Given the description of an element on the screen output the (x, y) to click on. 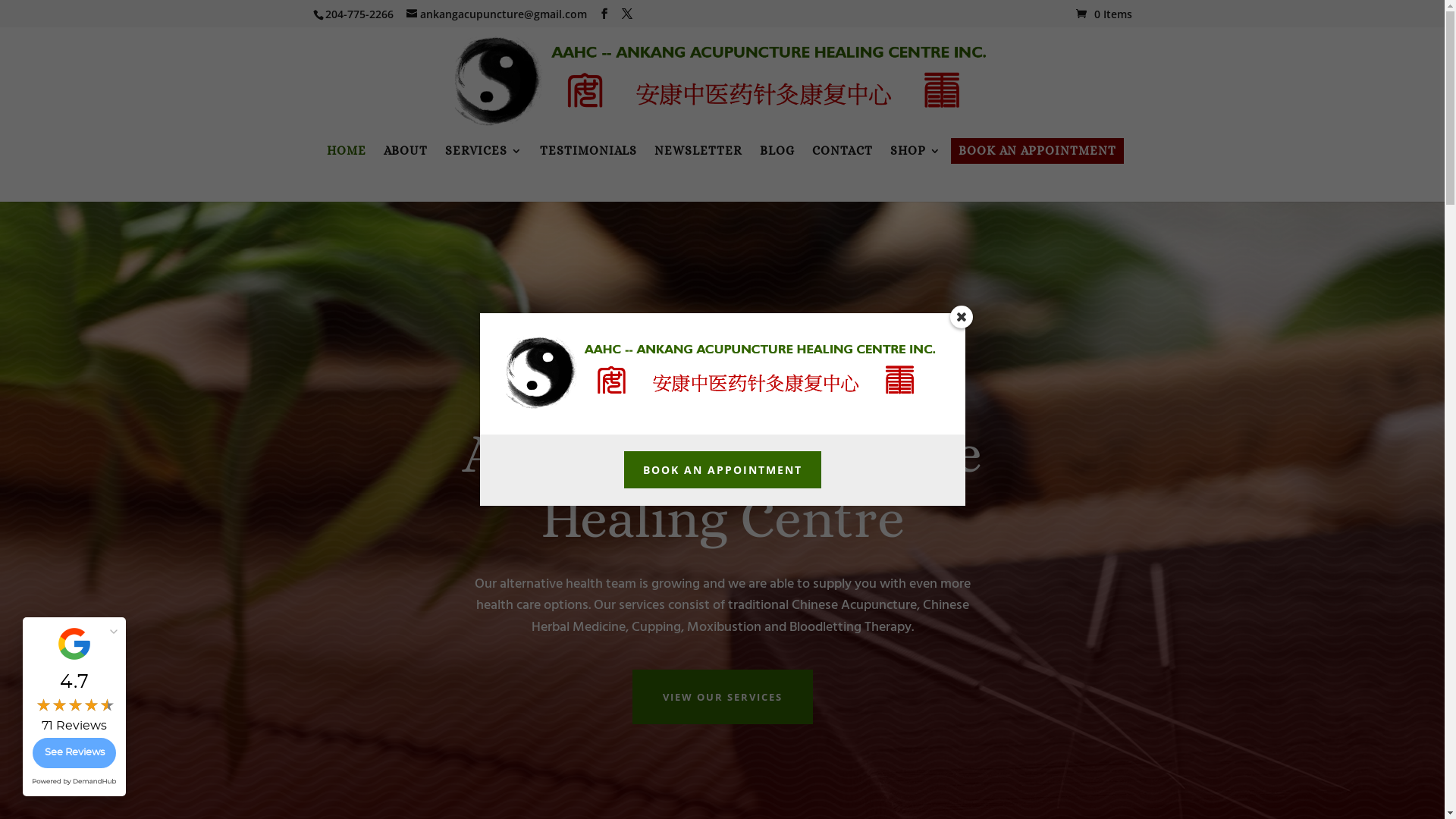
BLOG Element type: text (776, 150)
See Reviews Element type: text (74, 752)
TESTIMONIALS Element type: text (588, 150)
SHOP Element type: text (915, 150)
VIEW OUR SERVICES Element type: text (722, 696)
NEWSLETTER Element type: text (698, 150)
ABOUT Element type: text (405, 150)
0 Items Element type: text (1103, 13)
CONTACT Element type: text (842, 150)
SERVICES Element type: text (483, 150)
204-775-2266 Element type: text (357, 13)
ankangacupuncture@gmail.com Element type: text (496, 13)
HOME Element type: text (346, 150)
BOOK AN APPOINTMENT Element type: text (721, 469)
BOOK AN APPOINTMENT Element type: text (1037, 150)
